Given the description of an element on the screen output the (x, y) to click on. 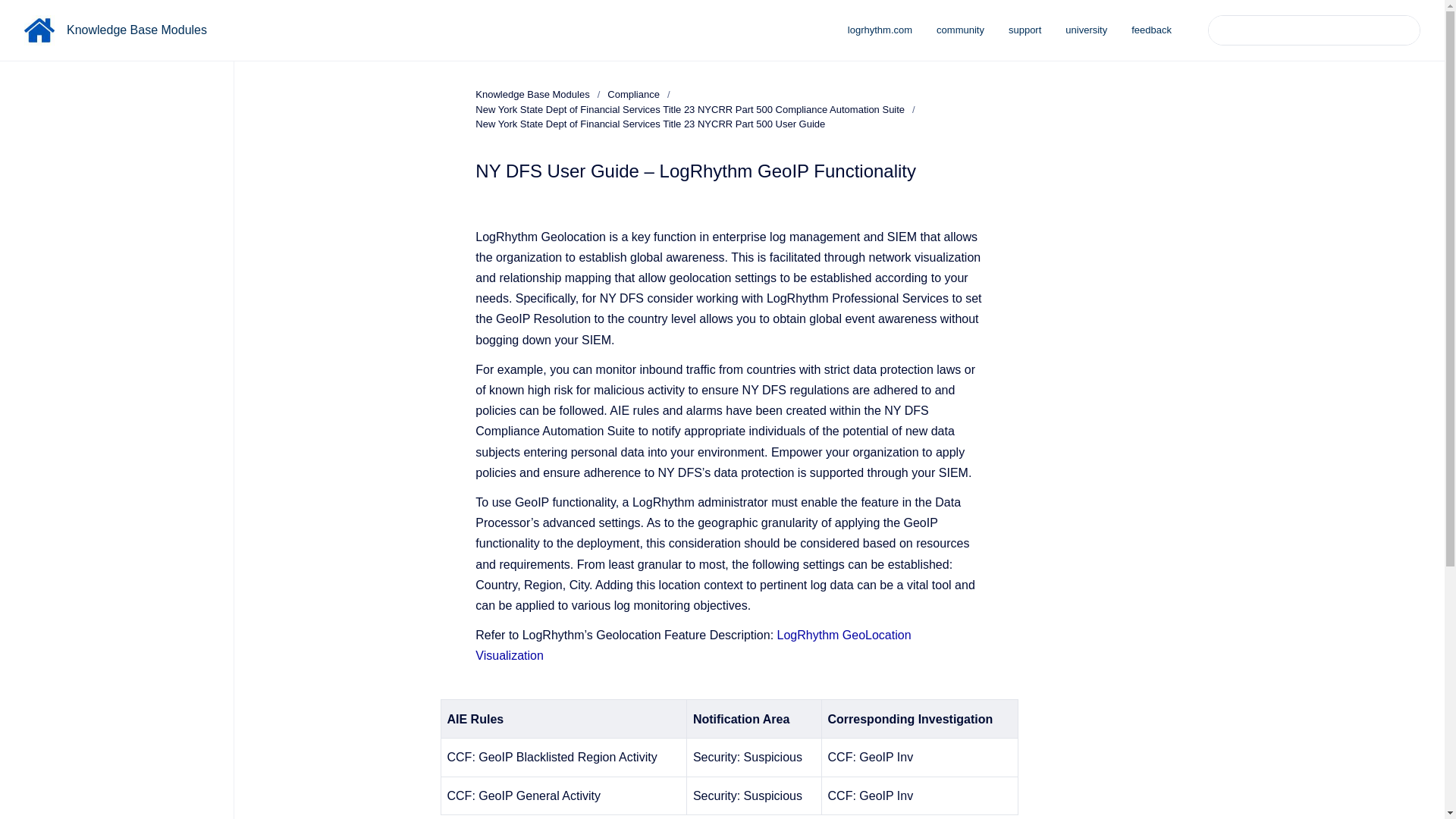
university (1085, 29)
support (1023, 29)
Knowledge Base Modules (532, 94)
LogRhythm GeoLocation Visualization (693, 644)
feedback (1151, 29)
Compliance (633, 94)
logrhythm.com (879, 29)
Knowledge Base Modules (136, 29)
